Given the description of an element on the screen output the (x, y) to click on. 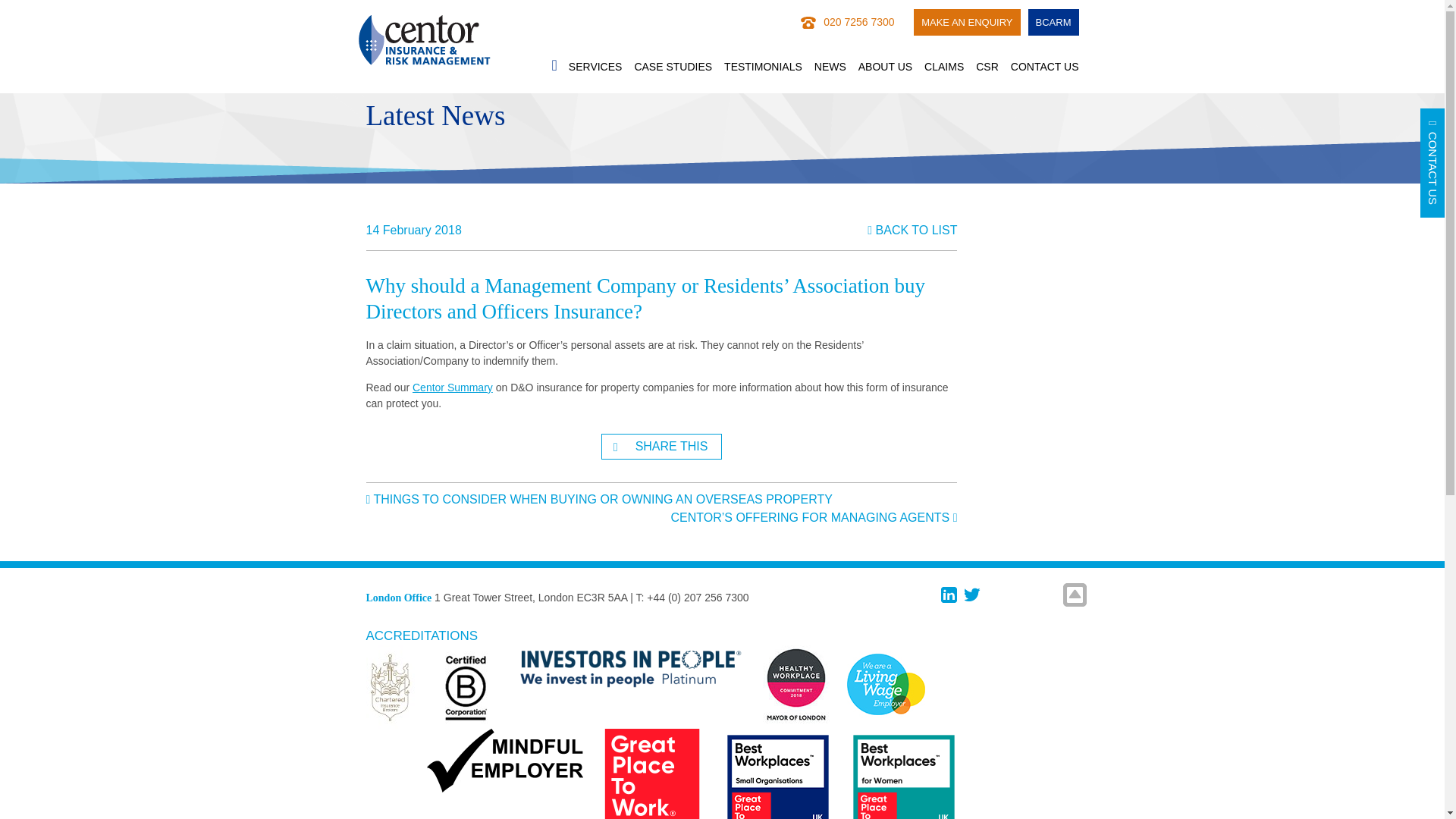
SERVICES (596, 66)
 BACK TO LIST (911, 229)
NEWS (829, 66)
CLAIMS (943, 66)
CONTACT US (1044, 66)
SHARE THIS (661, 446)
CSR (986, 66)
Centor Summary (452, 387)
TESTIMONIALS (762, 66)
BCARM (1053, 21)
